Given the description of an element on the screen output the (x, y) to click on. 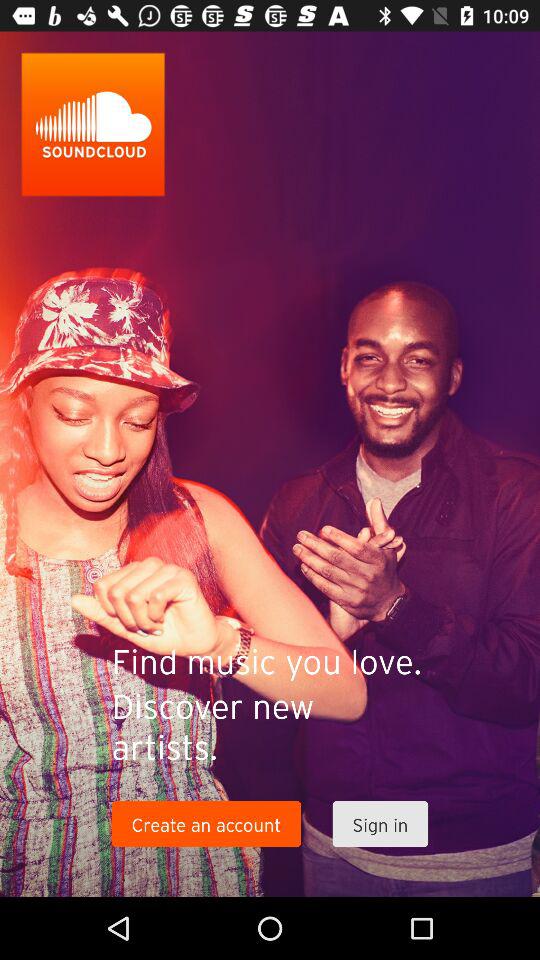
choose the sign in item (380, 824)
